Given the description of an element on the screen output the (x, y) to click on. 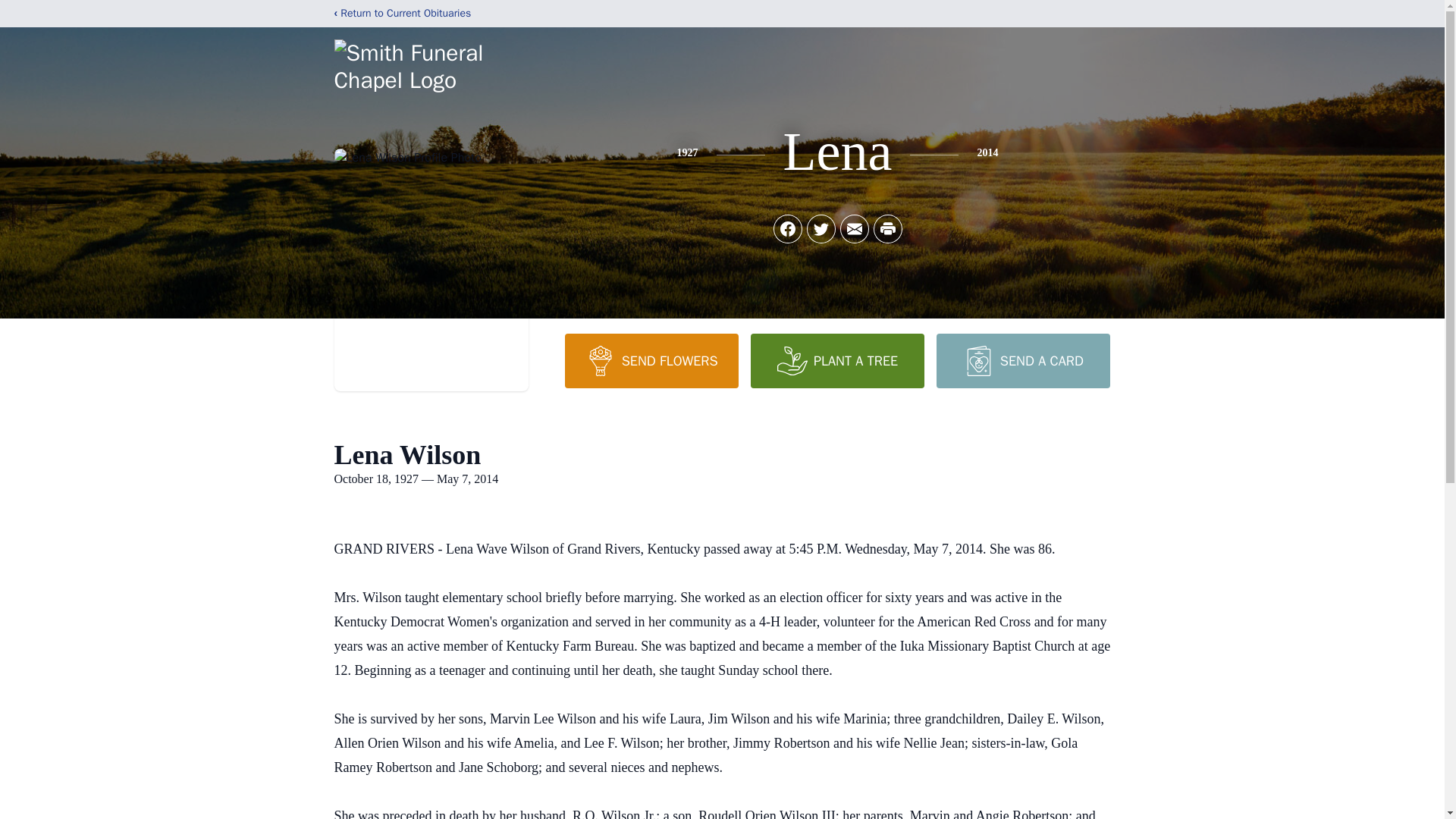
PLANT A TREE (837, 360)
SEND FLOWERS (651, 360)
SEND A CARD (1022, 360)
